Given the description of an element on the screen output the (x, y) to click on. 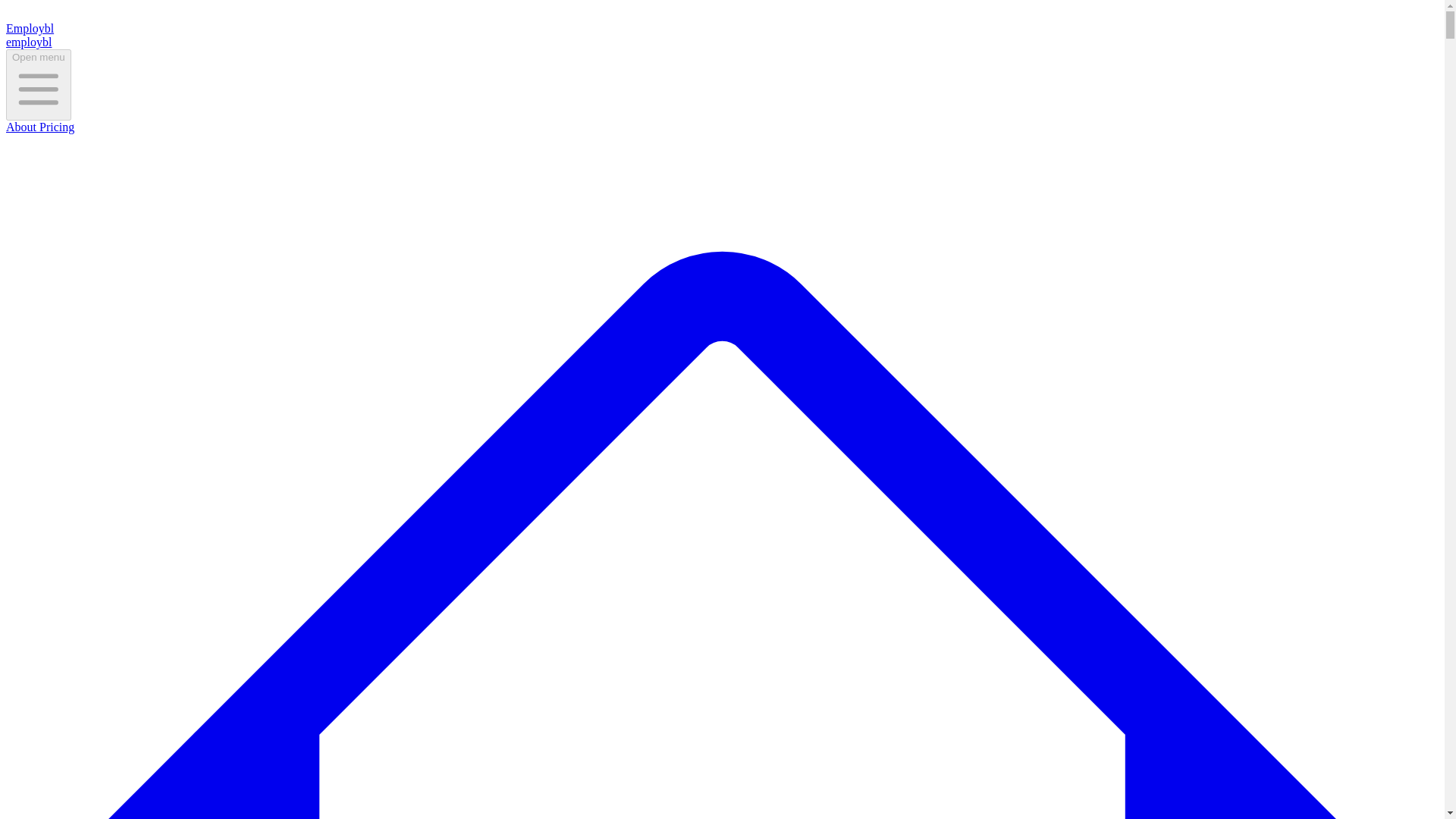
About (20, 126)
Pricing (55, 126)
Open menu (38, 84)
